Given the description of an element on the screen output the (x, y) to click on. 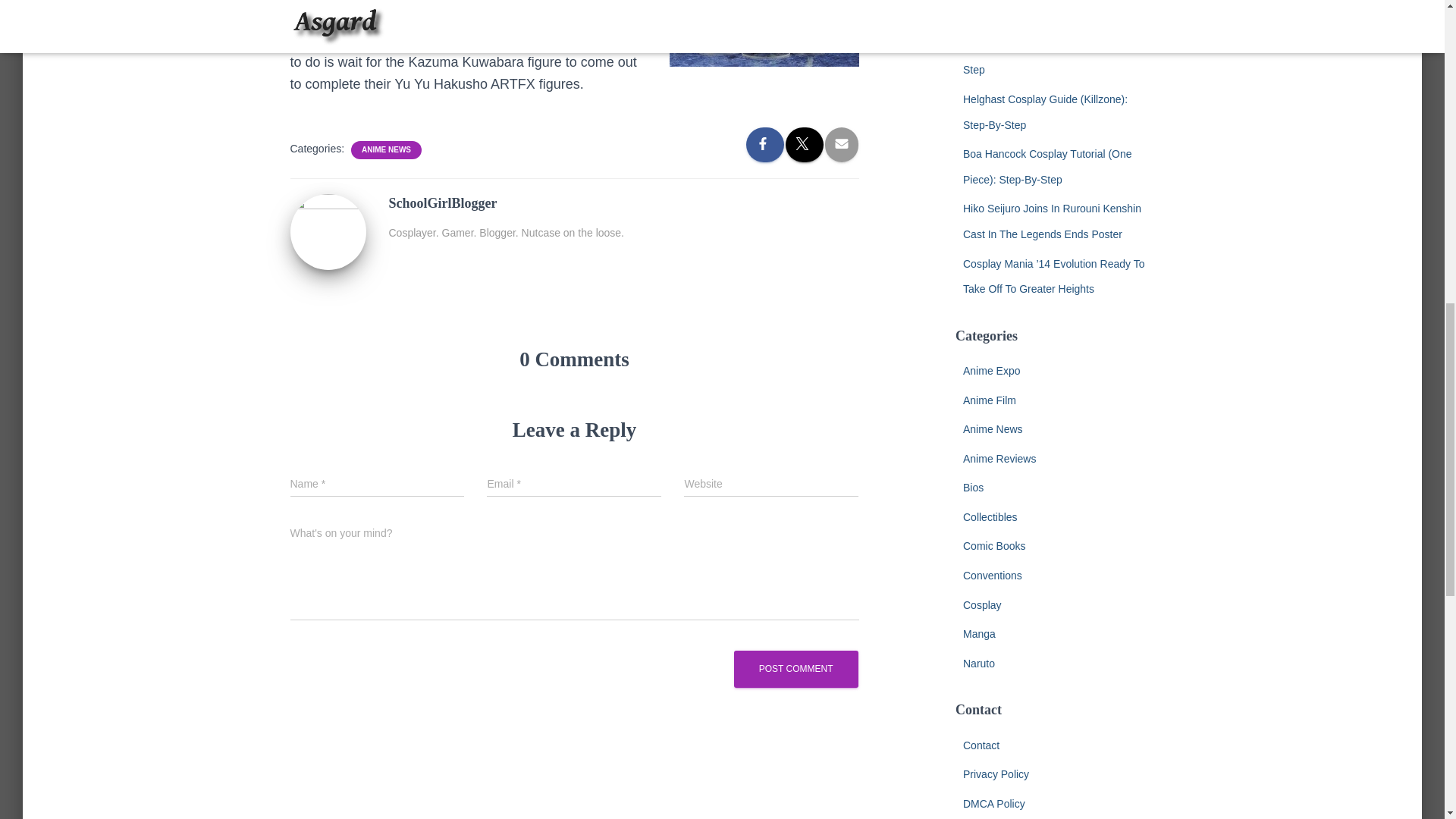
Hatsune Miku Cosplay Tutorial: Step-By-Step (1058, 57)
ANIME NEWS (385, 149)
Contact (980, 745)
Anime Expo (991, 370)
Privacy Policy (995, 774)
yuyu 1 (763, 33)
Post Comment (796, 668)
Manga (978, 633)
Post Comment (796, 668)
Bios (973, 487)
Cosplay (981, 604)
Anime Film (989, 399)
Naruto (978, 663)
SchoolGirlBlogger (327, 231)
